Given the description of an element on the screen output the (x, y) to click on. 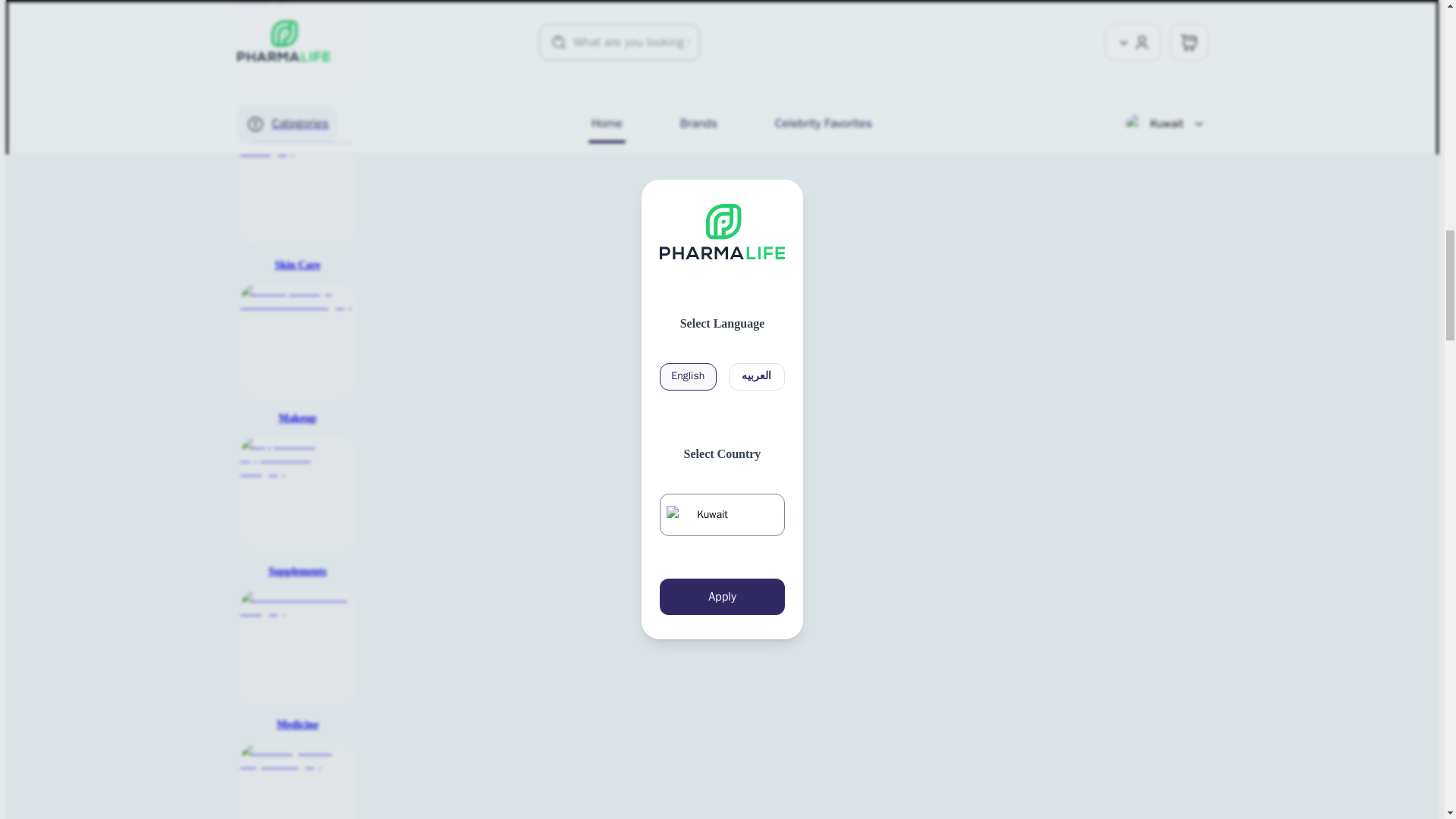
Maternity (296, 780)
Hair Care (296, 59)
